Given the description of an element on the screen output the (x, y) to click on. 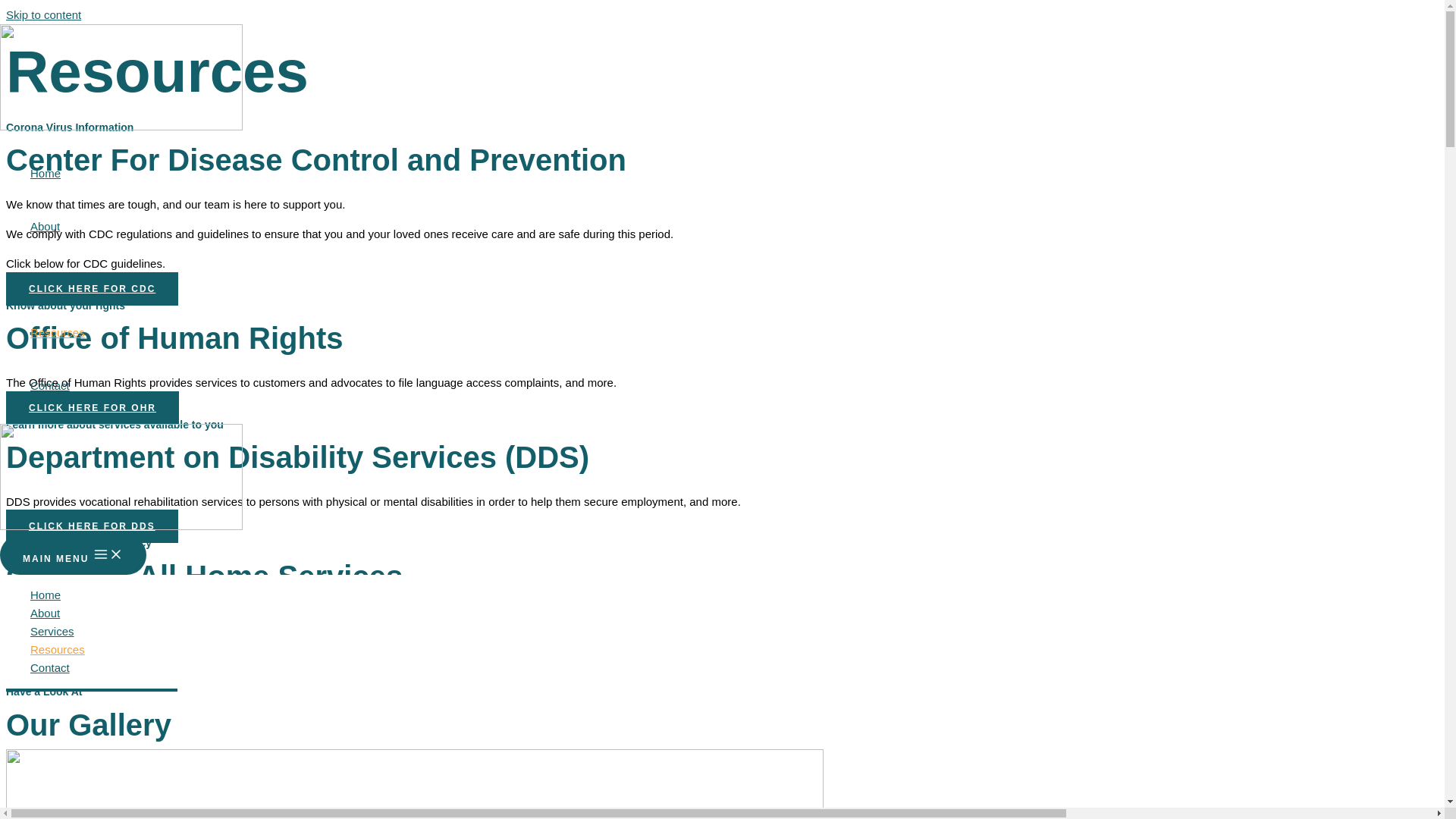
CLICK HERE FOR DDS (91, 525)
Services (57, 631)
Resources (57, 332)
Home (57, 595)
Resources (57, 649)
Contact (57, 668)
Home (57, 173)
CLICK HERE FOR CDC (91, 288)
MAIN MENU (73, 554)
About (57, 226)
Skip to content (43, 14)
About (57, 613)
Contact (57, 385)
Services (57, 279)
CLICK HERE FOR OHR (92, 408)
